Given the description of an element on the screen output the (x, y) to click on. 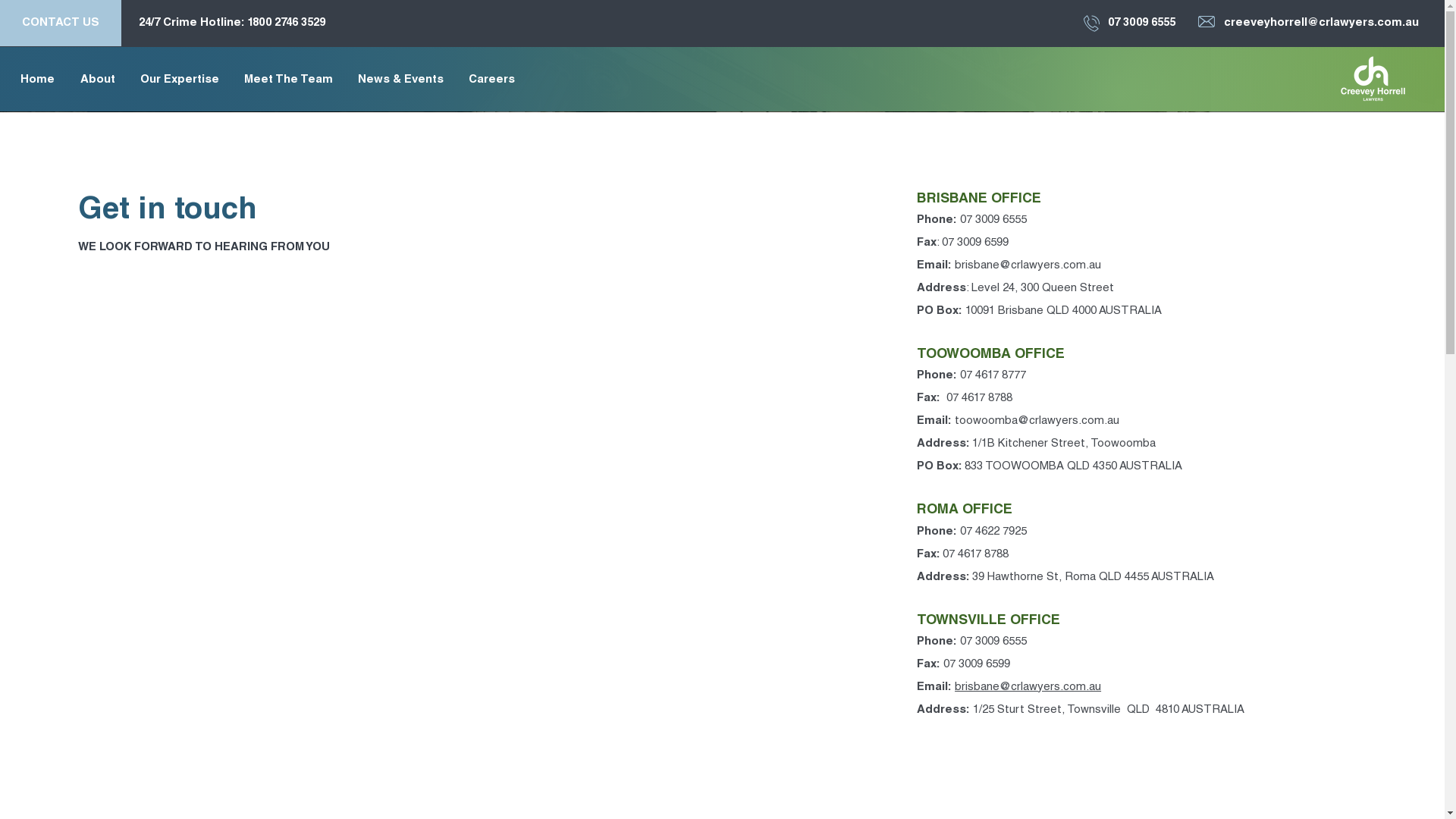
07 3009 6555 Element type: text (1141, 22)
Embedded Content Element type: hover (264, 459)
Home Element type: text (37, 80)
Careers Element type: text (491, 80)
24/7 Crime Hotline: 1800 2746 3529 Element type: text (231, 22)
CONTACT US Element type: text (60, 23)
creeveyhorrell@crlawyers.com.au Element type: text (1320, 22)
brisbane@crlawyers.com.au Element type: text (1027, 687)
brisbane@crlawyers.com.au Element type: text (1027, 265)
toowoomba@crlawyers.com.au Element type: text (1036, 420)
Meet The Team Element type: text (288, 80)
